Given the description of an element on the screen output the (x, y) to click on. 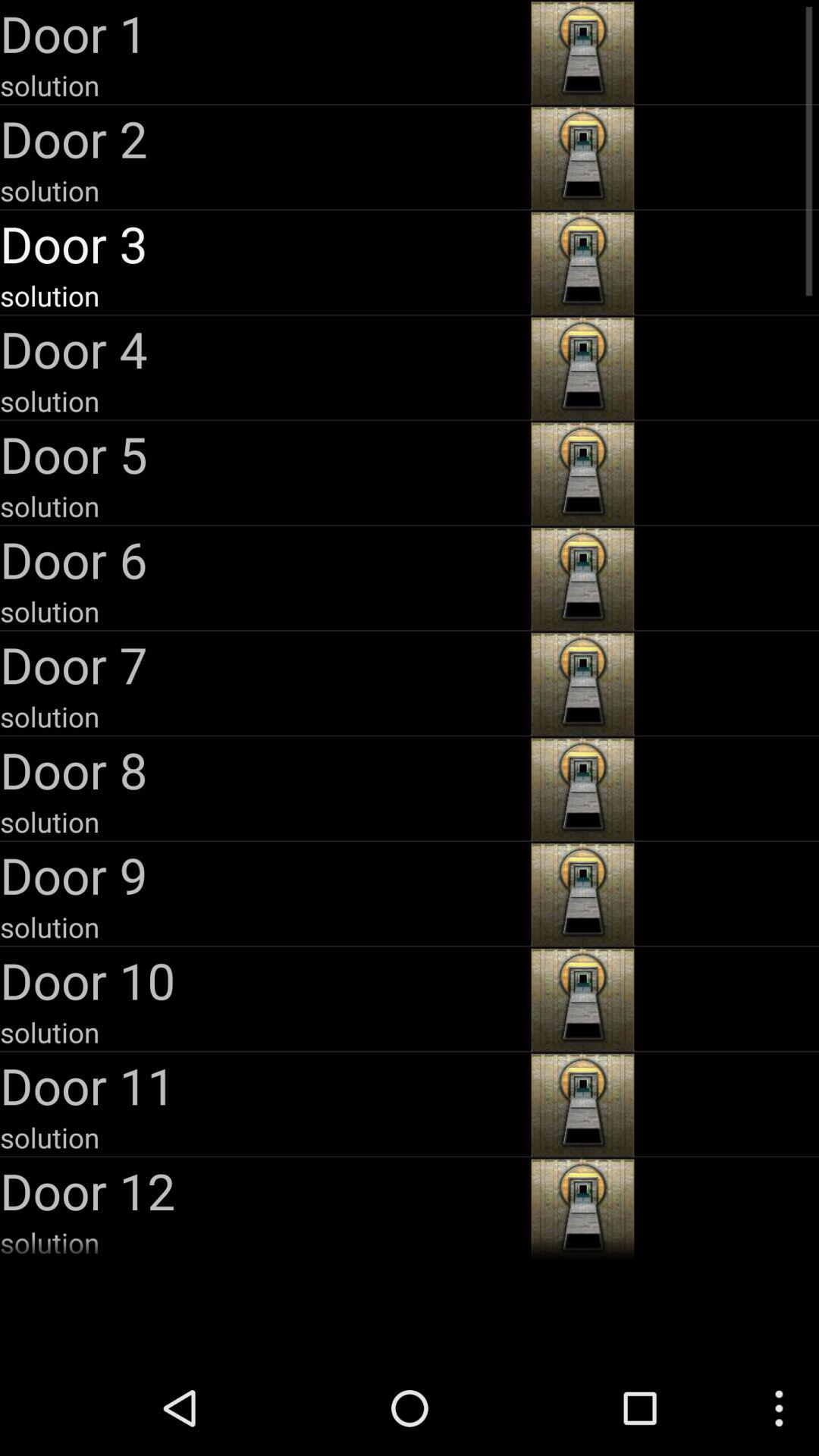
press the door 12 app (263, 1190)
